Given the description of an element on the screen output the (x, y) to click on. 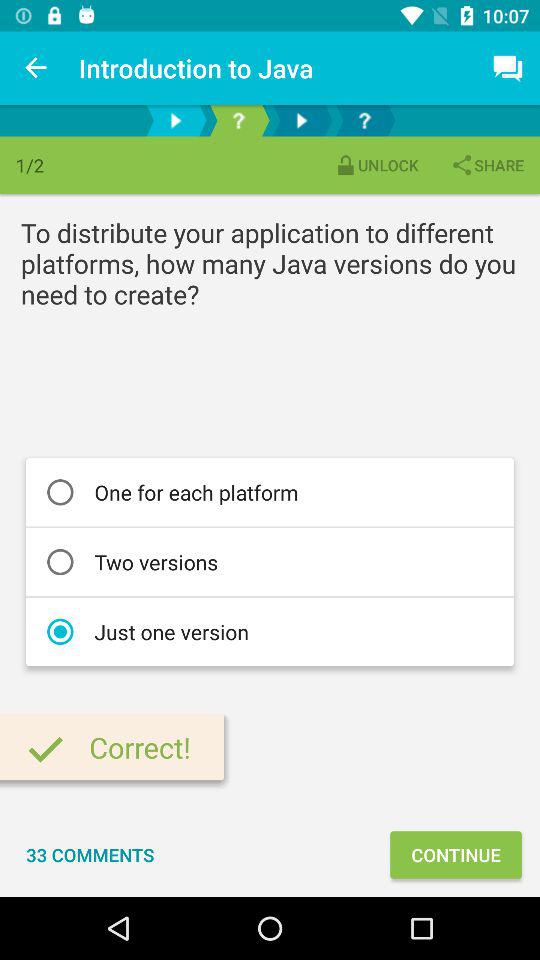
go to help (238, 120)
